Given the description of an element on the screen output the (x, y) to click on. 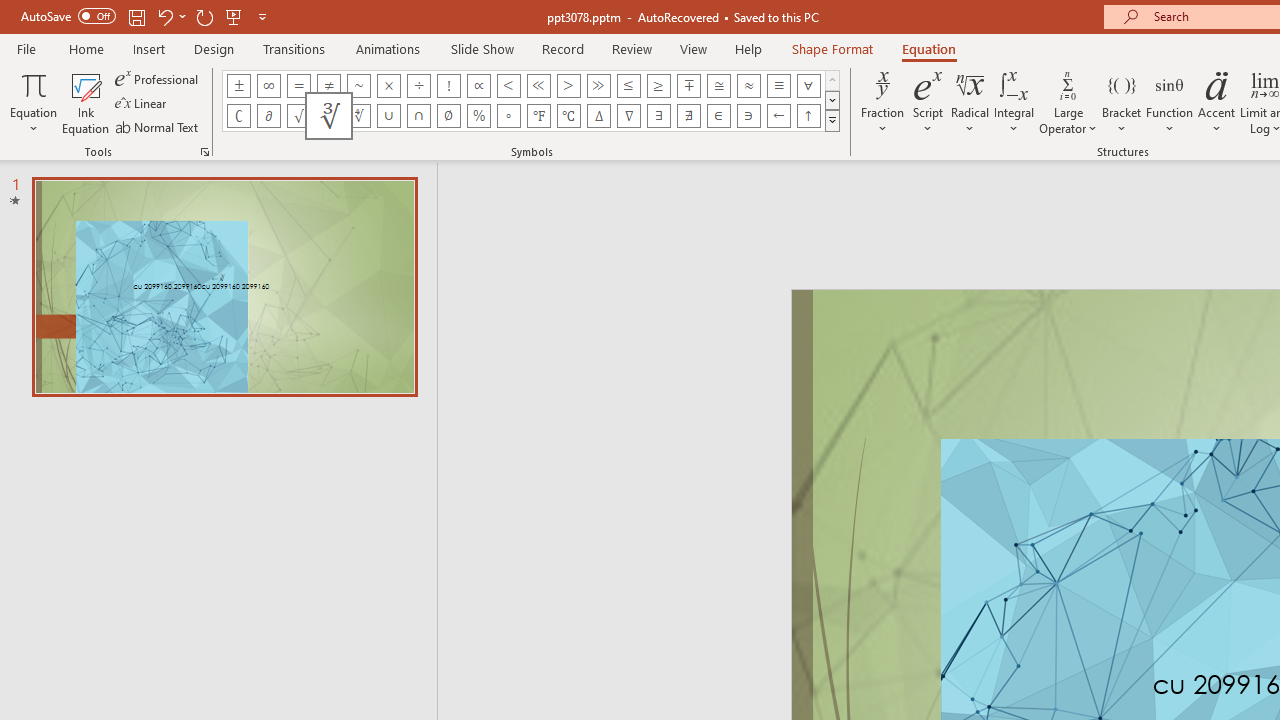
Equation Symbol Up Arrow (808, 115)
Ink Equation (86, 102)
Equation Symbol Left Arrow (778, 115)
Equation Symbol Approximately (358, 85)
Equation Symbol Proportional To (478, 85)
Equation Symbol Degrees Fahrenheit (538, 115)
Equation Symbol Much Less Than (538, 85)
Equation Symbol Empty Set (448, 115)
Equation Symbol Cube Root (328, 115)
Equation Symbol Fourth Root (358, 115)
Equation Symbol Element Of (718, 115)
